Given the description of an element on the screen output the (x, y) to click on. 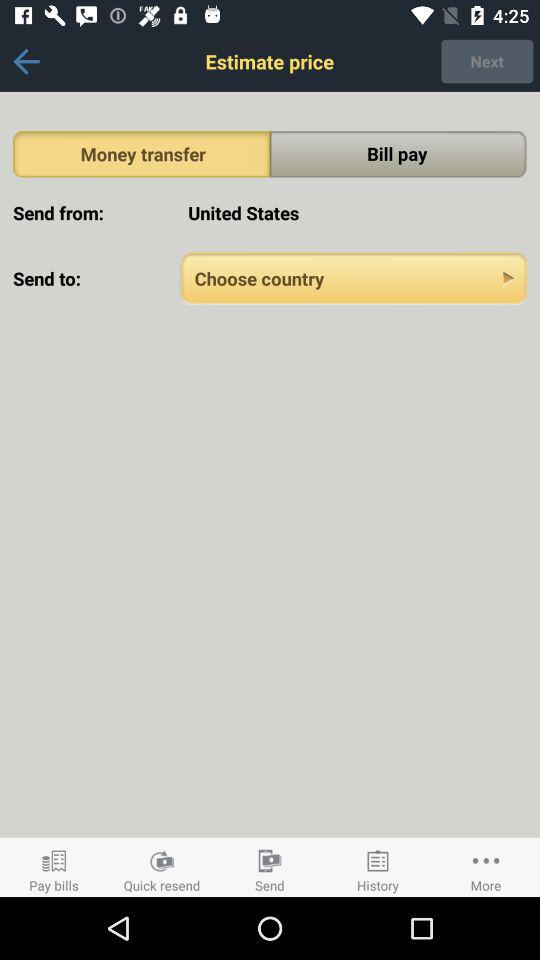
click the item next to send from: icon (353, 212)
